Given the description of an element on the screen output the (x, y) to click on. 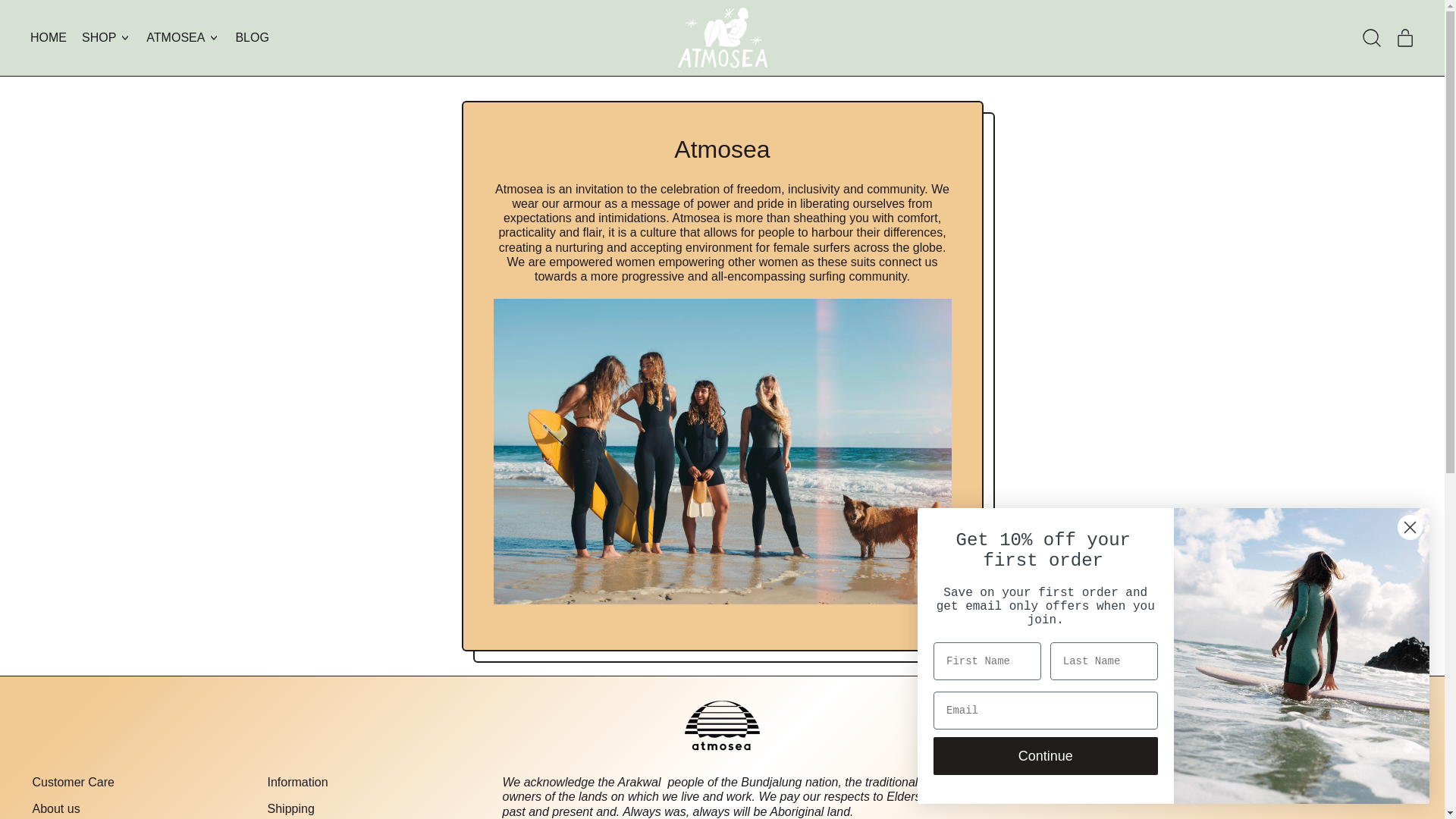
HOME (48, 37)
BLOG (251, 37)
SHOP (106, 37)
ATMOSEA (1405, 37)
Close dialog 1 (182, 37)
About us (1409, 527)
Shipping (56, 808)
Search our site (290, 808)
